Given the description of an element on the screen output the (x, y) to click on. 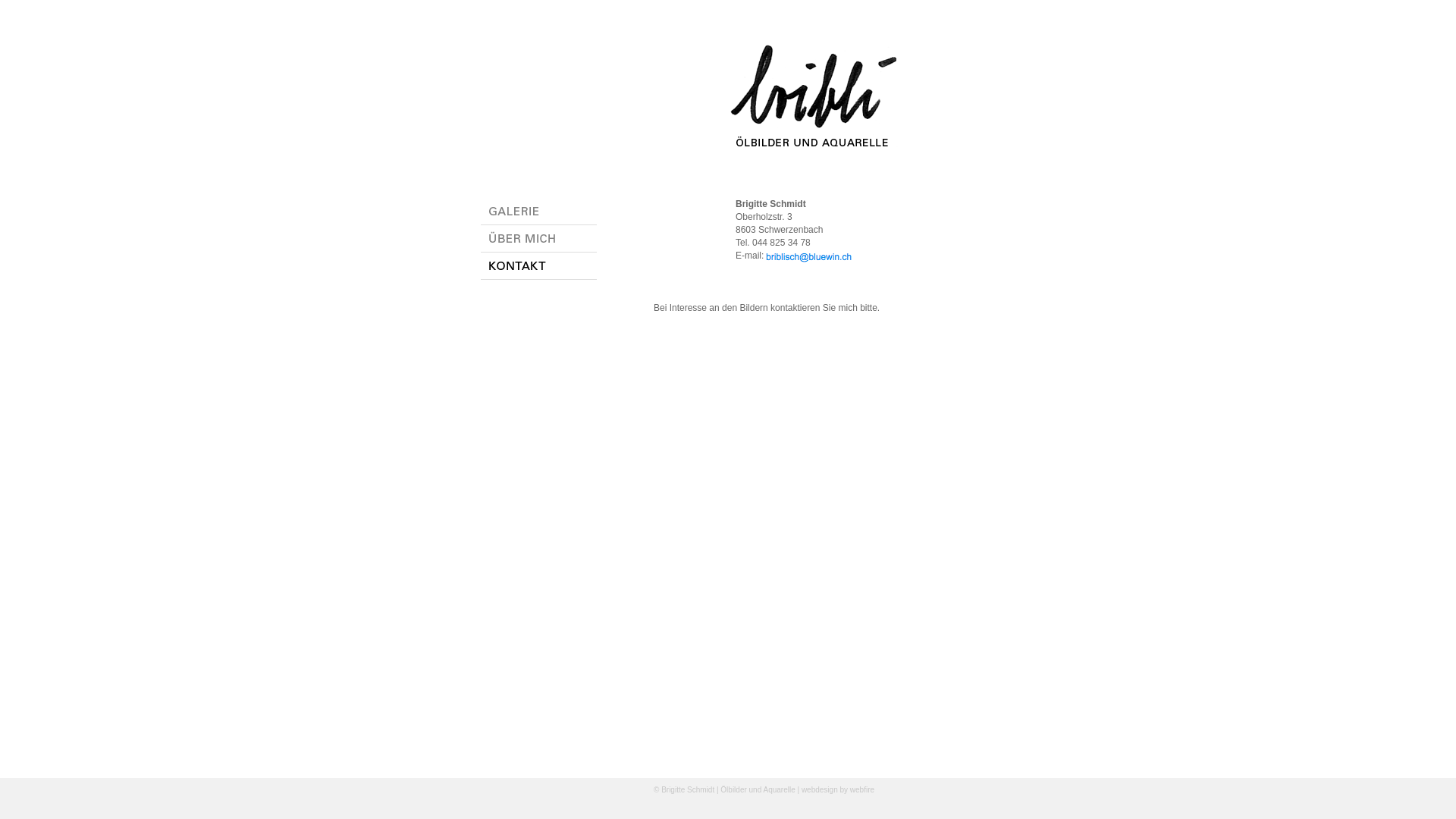
Kontakt Element type: hover (538, 275)
Galerie Bilder Oelbilder Brigit Element type: hover (538, 220)
webdesign by webfire Element type: text (837, 789)
